Given the description of an element on the screen output the (x, y) to click on. 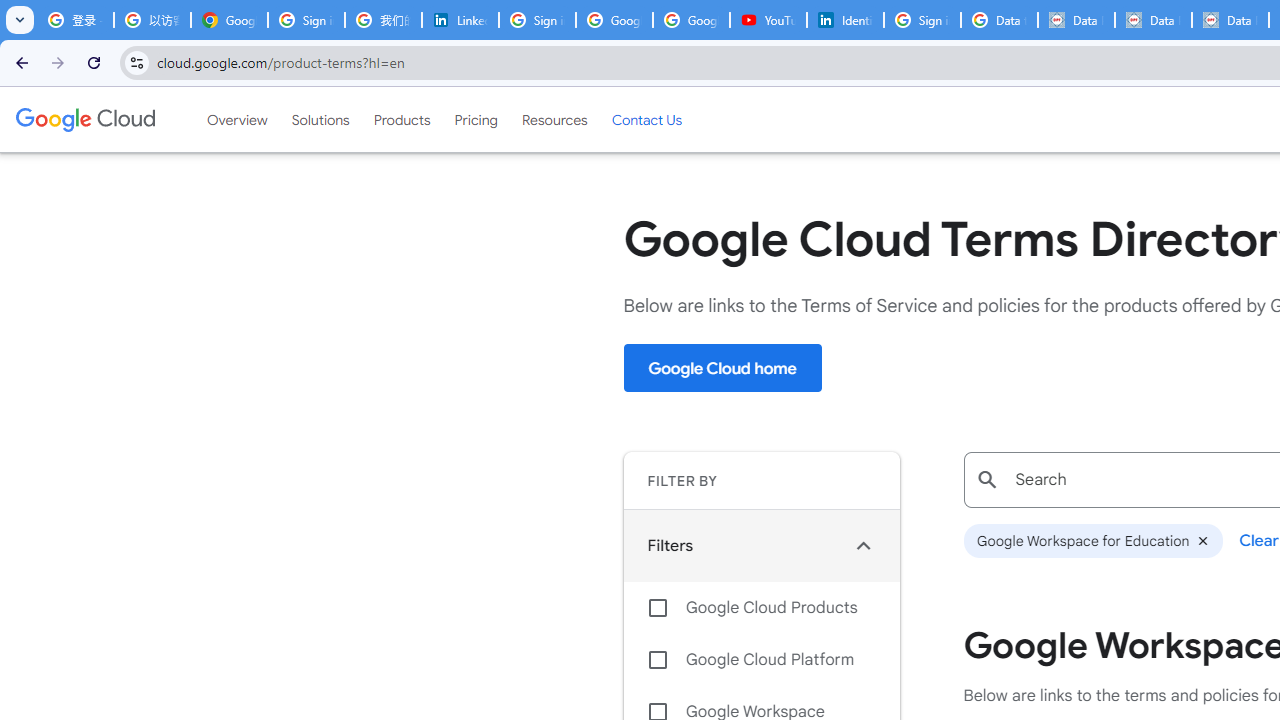
Google Workspace for Education (1092, 541)
Sign in - Google Accounts (922, 20)
Data Privacy Framework (1152, 20)
Solutions (320, 119)
Google Cloud Products (761, 607)
Data Privacy Framework (1229, 20)
Products (401, 119)
Google Cloud home (722, 367)
Data Privacy Framework (1076, 20)
